Given the description of an element on the screen output the (x, y) to click on. 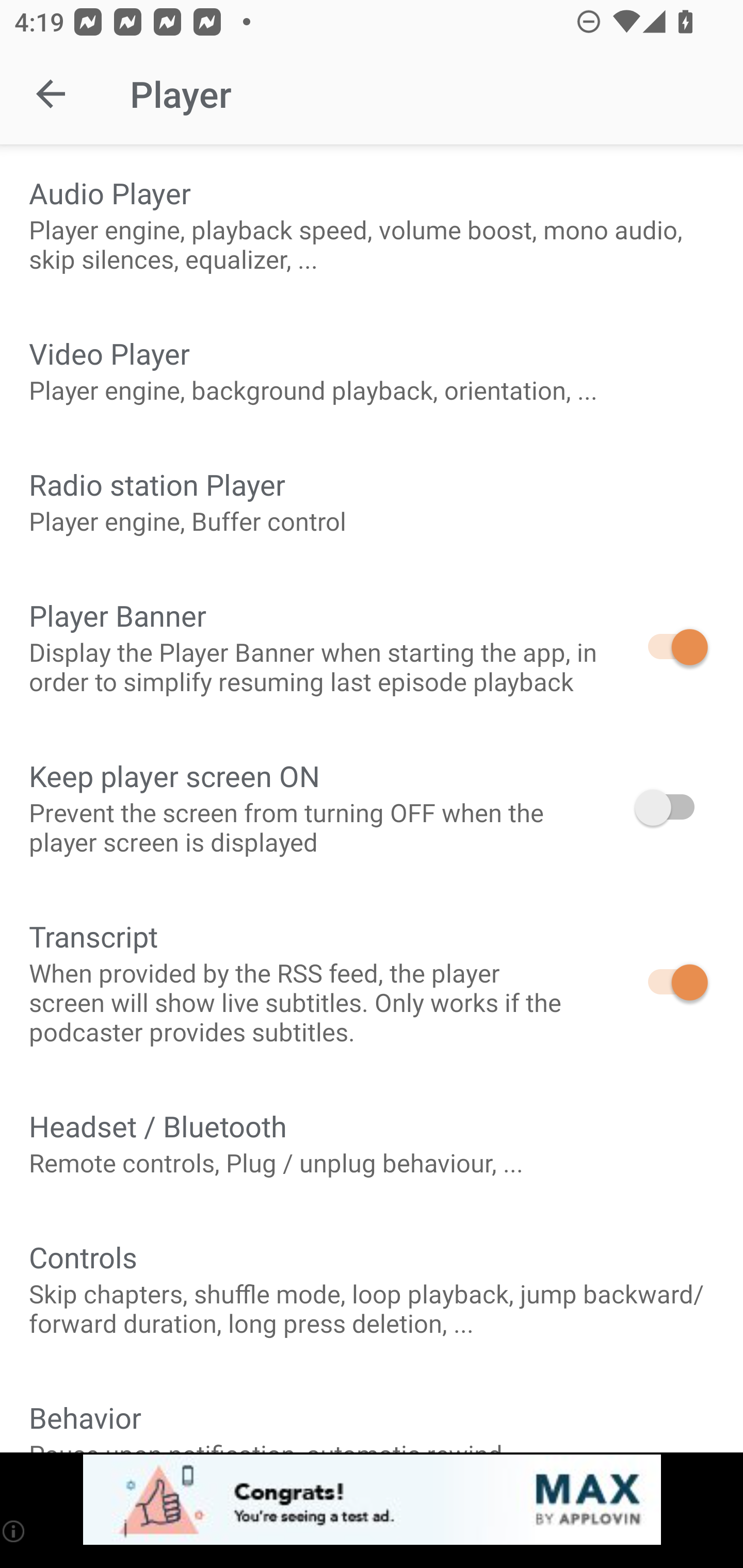
Navigate up (50, 93)
Radio station Player Player engine, Buffer control (371, 501)
app-monetization (371, 1500)
(i) (14, 1531)
